Given the description of an element on the screen output the (x, y) to click on. 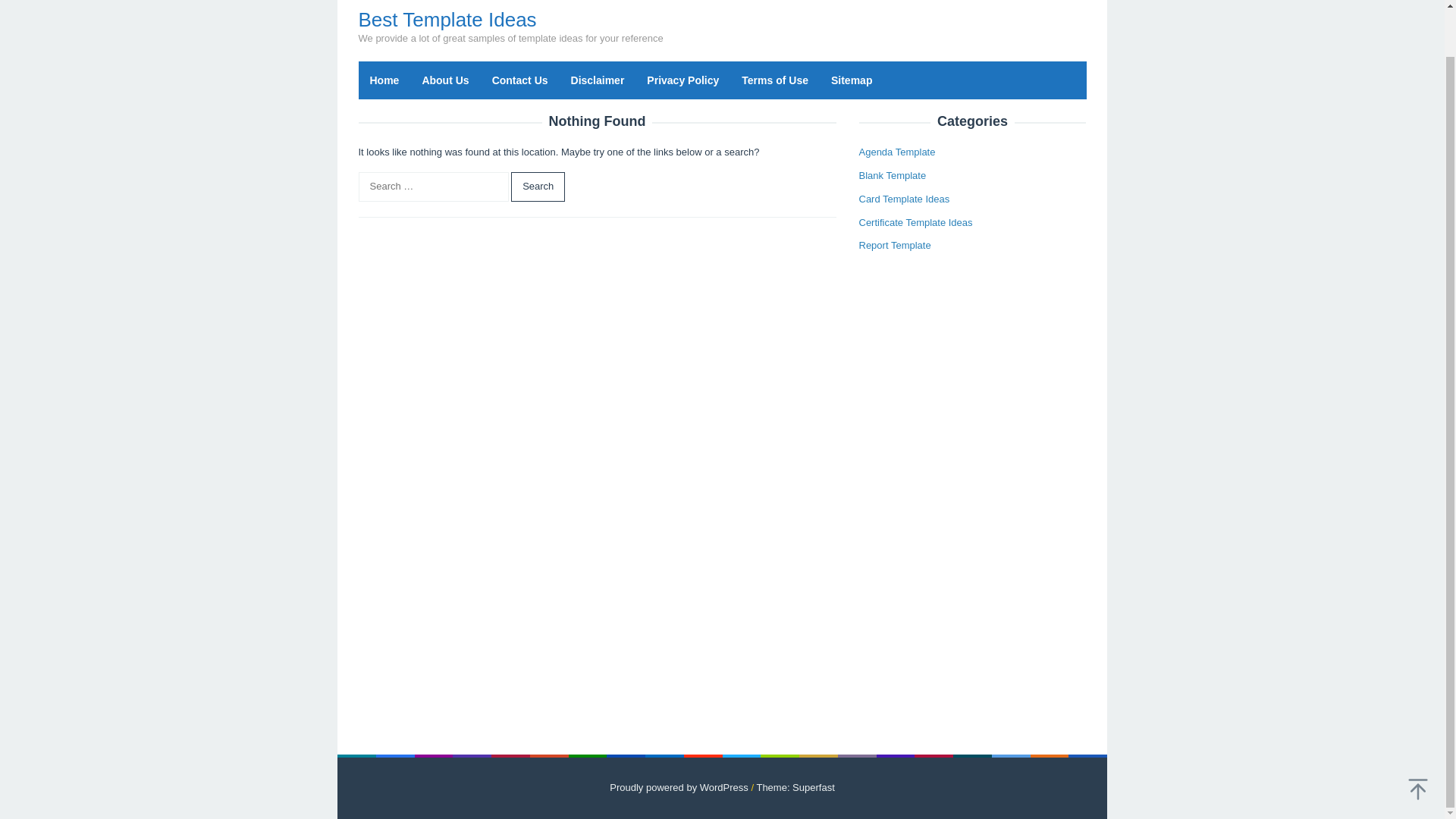
Search (537, 186)
About Us (445, 80)
Theme: Superfast (794, 787)
Proudly powered by WordPress (679, 787)
Card Template Ideas (904, 198)
Agenda Template (896, 152)
Theme: Superfast (794, 787)
Proudly powered by WordPress (679, 787)
Contact Us (519, 80)
Terms of Use (774, 80)
